Given the description of an element on the screen output the (x, y) to click on. 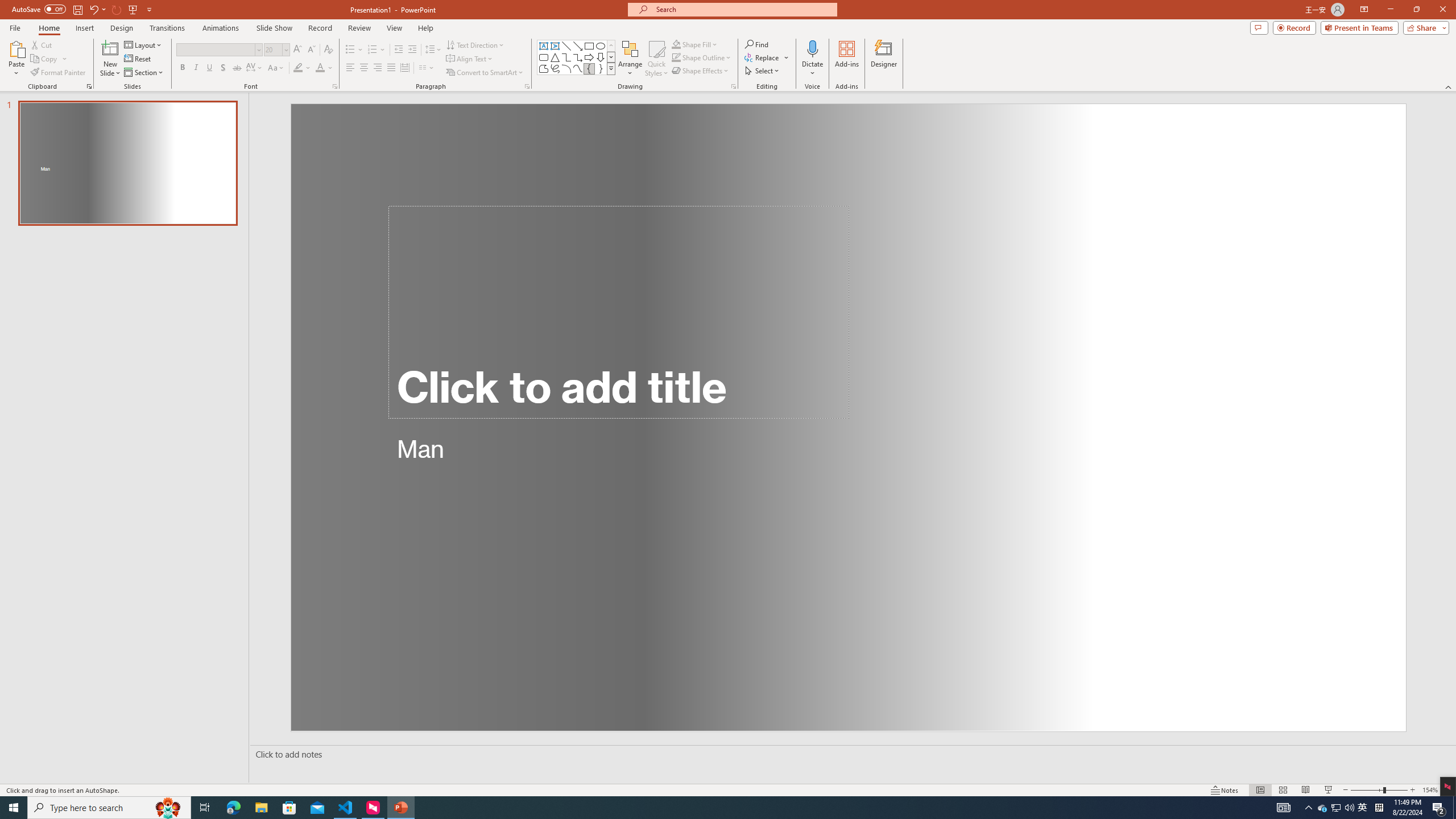
Justify (390, 67)
Clear Formatting (327, 49)
Font... (334, 85)
Curve (577, 68)
Text Highlight Color Yellow (297, 67)
